Given the description of an element on the screen output the (x, y) to click on. 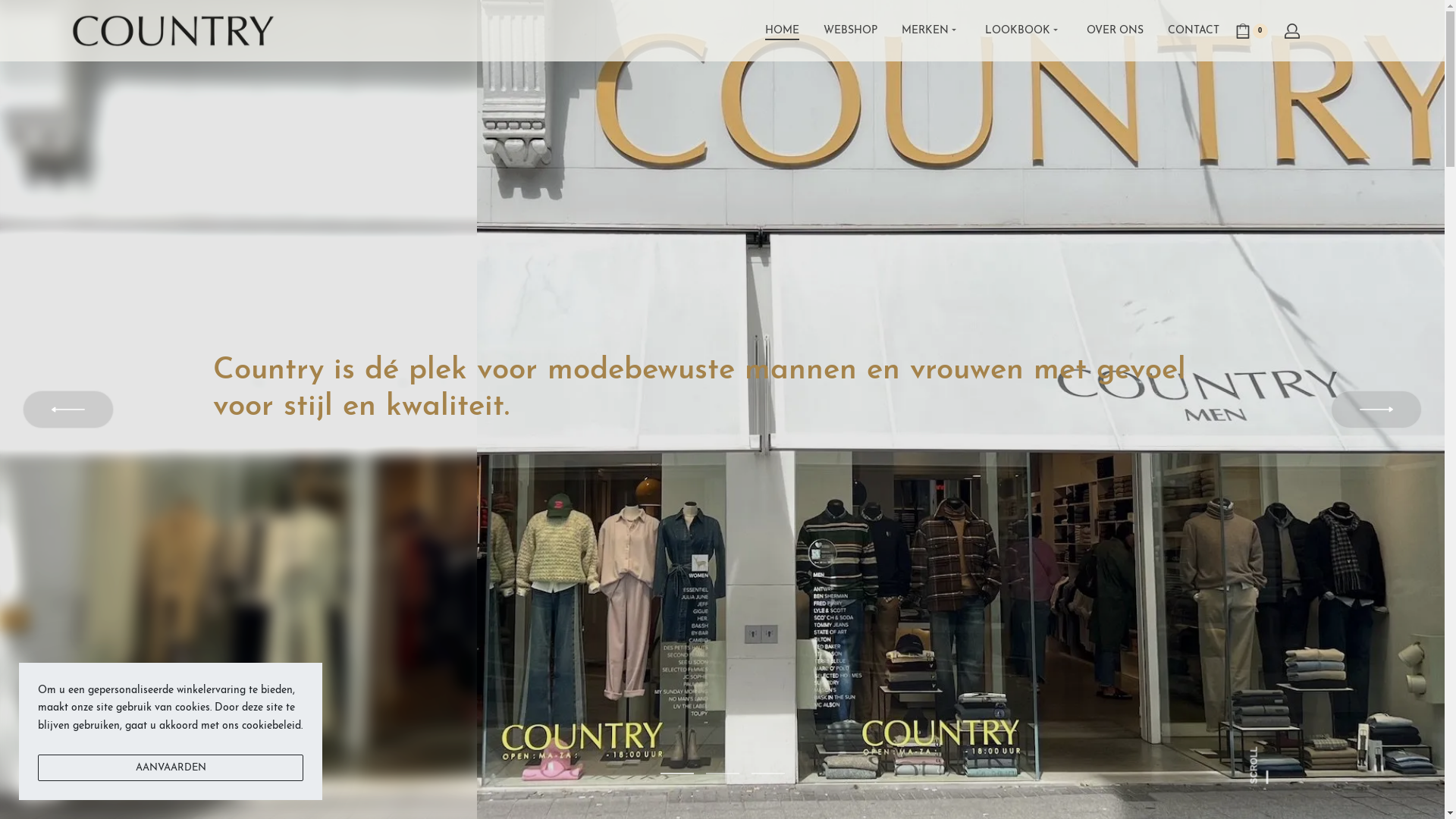
AANVAARDEN Element type: text (170, 767)
CONTACT Element type: text (1193, 30)
MERKEN Element type: text (930, 30)
0 Element type: text (1251, 30)
WEBSHOP Element type: text (850, 30)
HOME Element type: text (781, 30)
SCROLL Element type: text (1267, 754)
ONZE MERKEN Element type: text (272, 474)
LOOKBOOK Element type: text (1022, 30)
OVER ONS Element type: text (1113, 30)
